Given the description of an element on the screen output the (x, y) to click on. 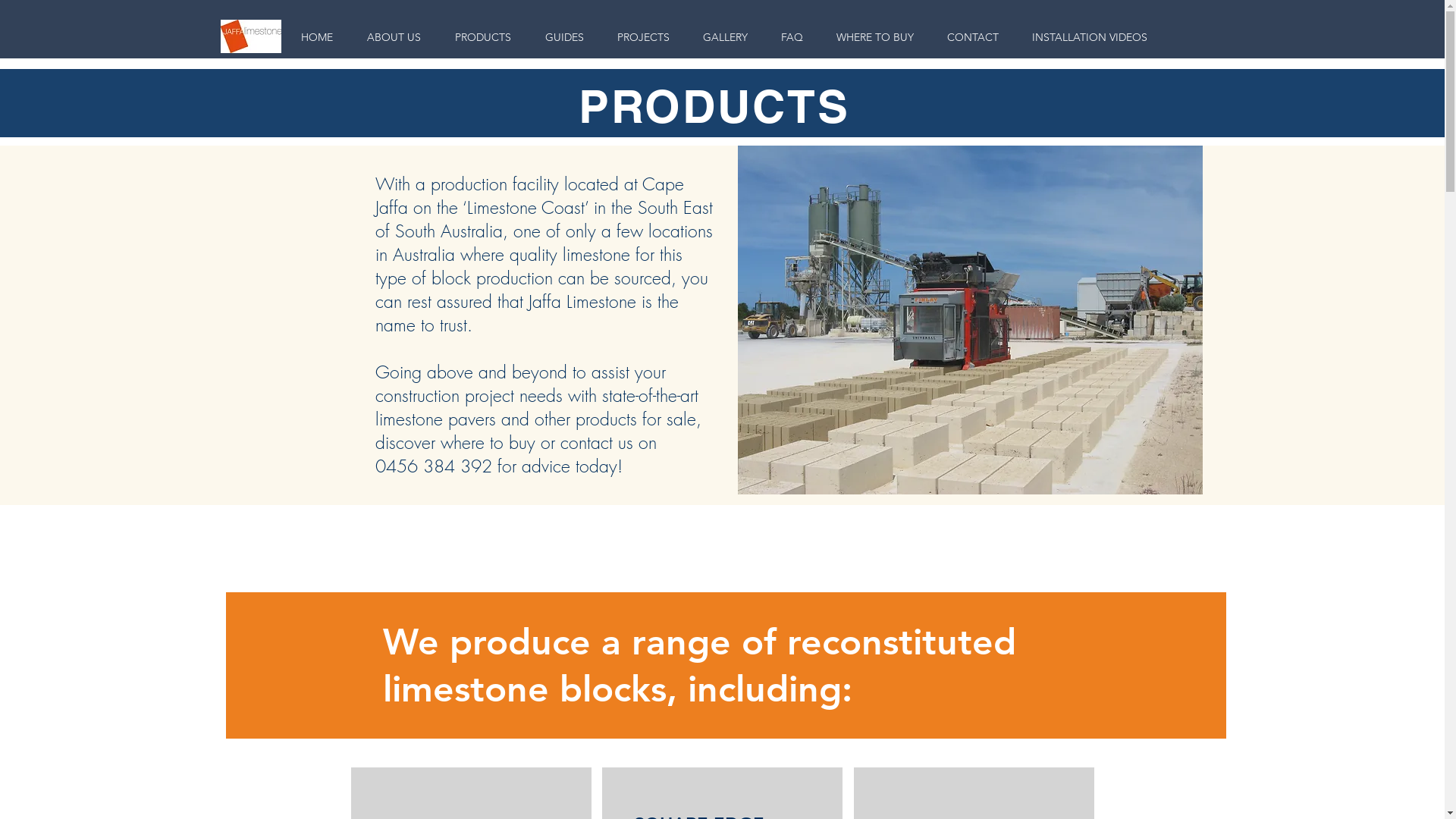
where to buy Element type: text (486, 442)
CONTACT Element type: text (971, 37)
PRODUCTS Element type: text (483, 37)
GUIDES Element type: text (563, 37)
FAQ Element type: text (791, 37)
WHERE TO BUY Element type: text (874, 37)
PROJECTS Element type: text (643, 37)
HOME Element type: text (316, 37)
ABOUT US Element type: text (394, 37)
INSTALLATION VIDEOS Element type: text (1088, 37)
GALLERY Element type: text (724, 37)
